Given the description of an element on the screen output the (x, y) to click on. 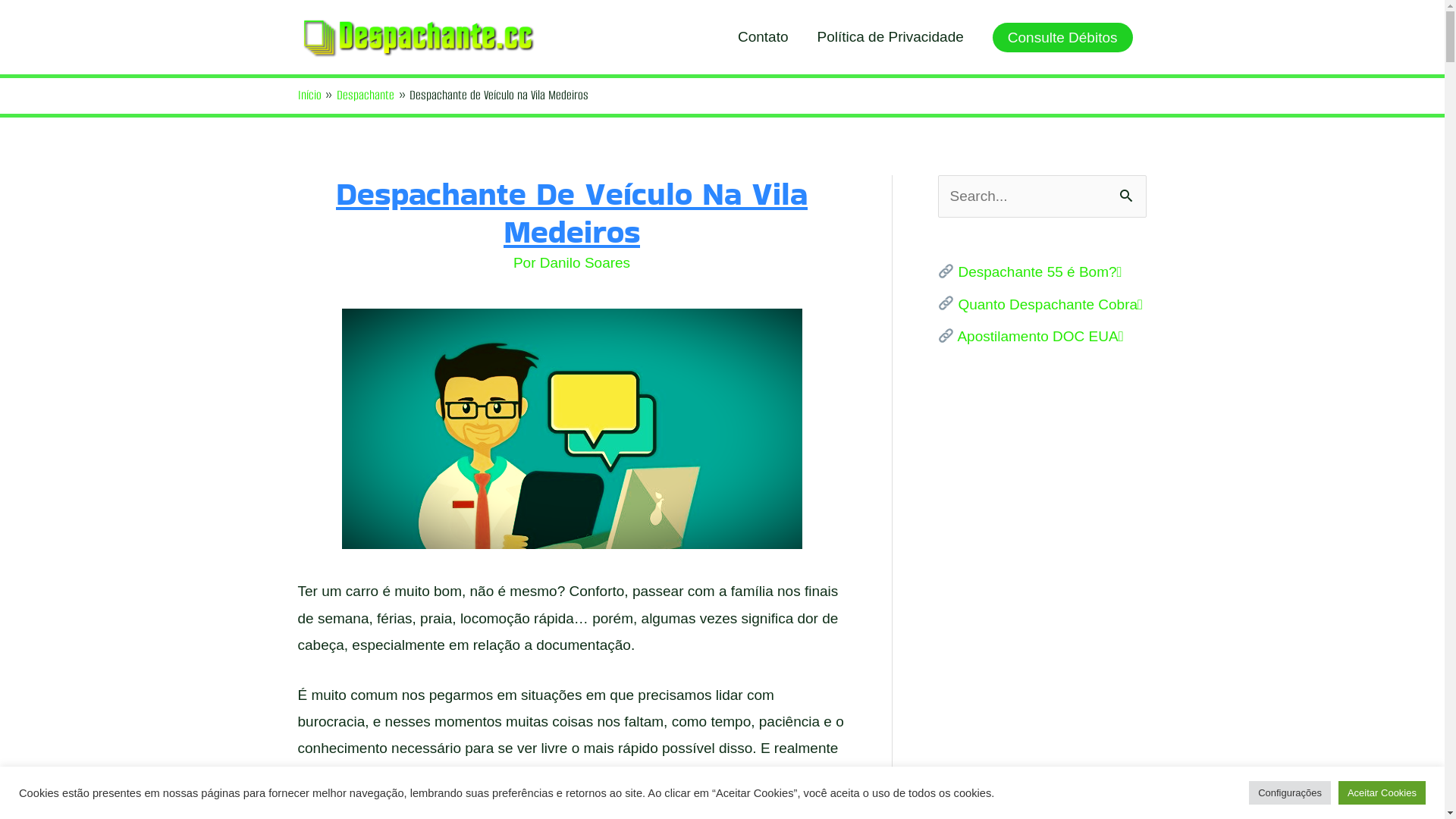
Contato Element type: text (763, 37)
Despachante Element type: text (365, 94)
Aceitar Cookies Element type: text (1381, 792)
Pesquisar Element type: text (1128, 192)
Danilo Soares Element type: text (584, 262)
